Given the description of an element on the screen output the (x, y) to click on. 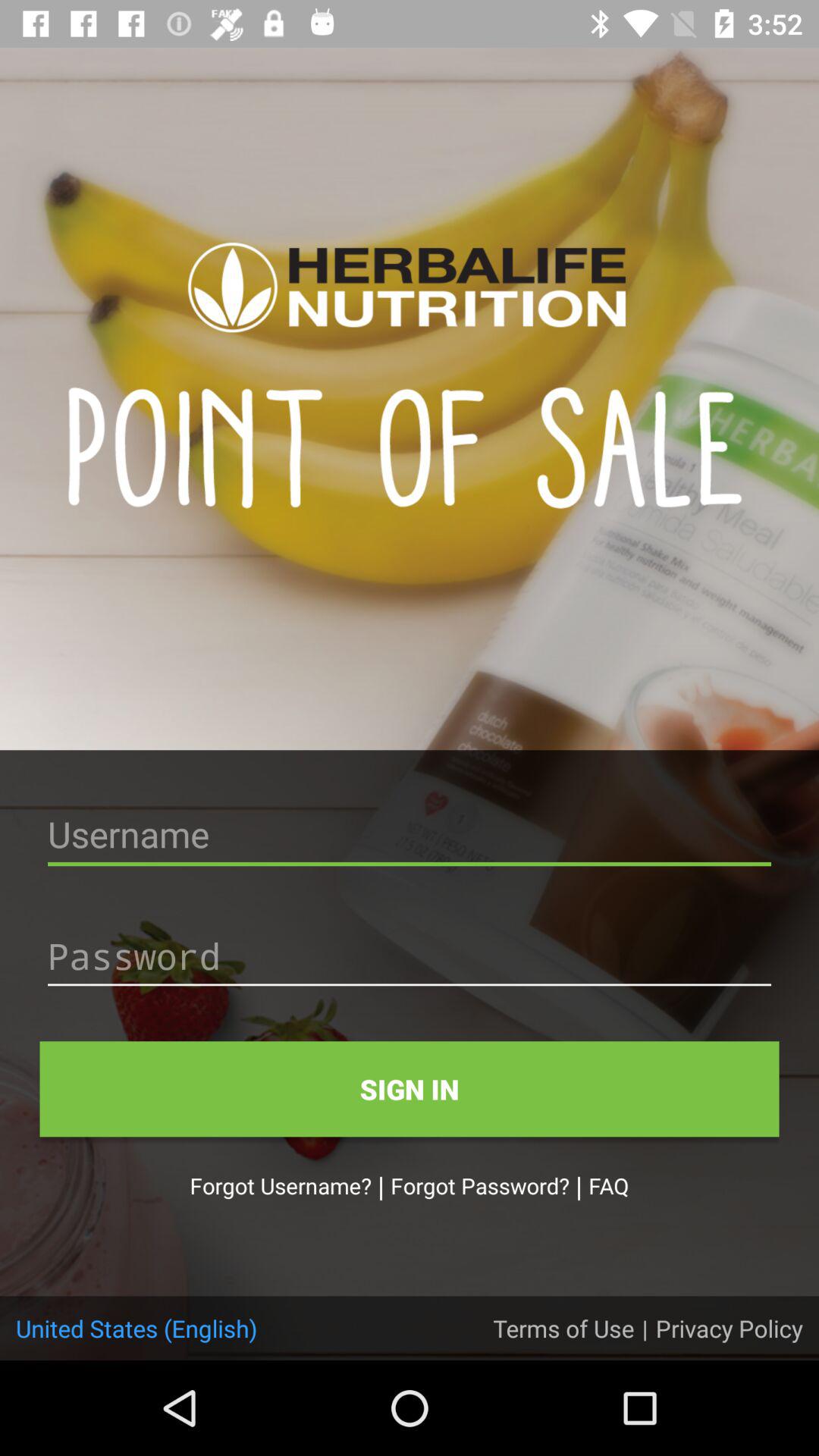
click the item to the left of terms of use (136, 1328)
